Given the description of an element on the screen output the (x, y) to click on. 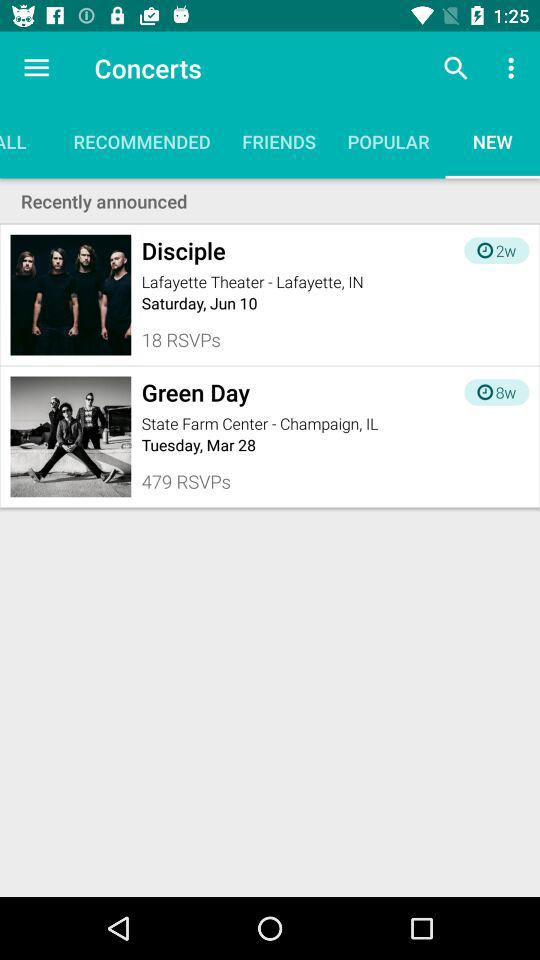
tap item above new item (513, 67)
